Given the description of an element on the screen output the (x, y) to click on. 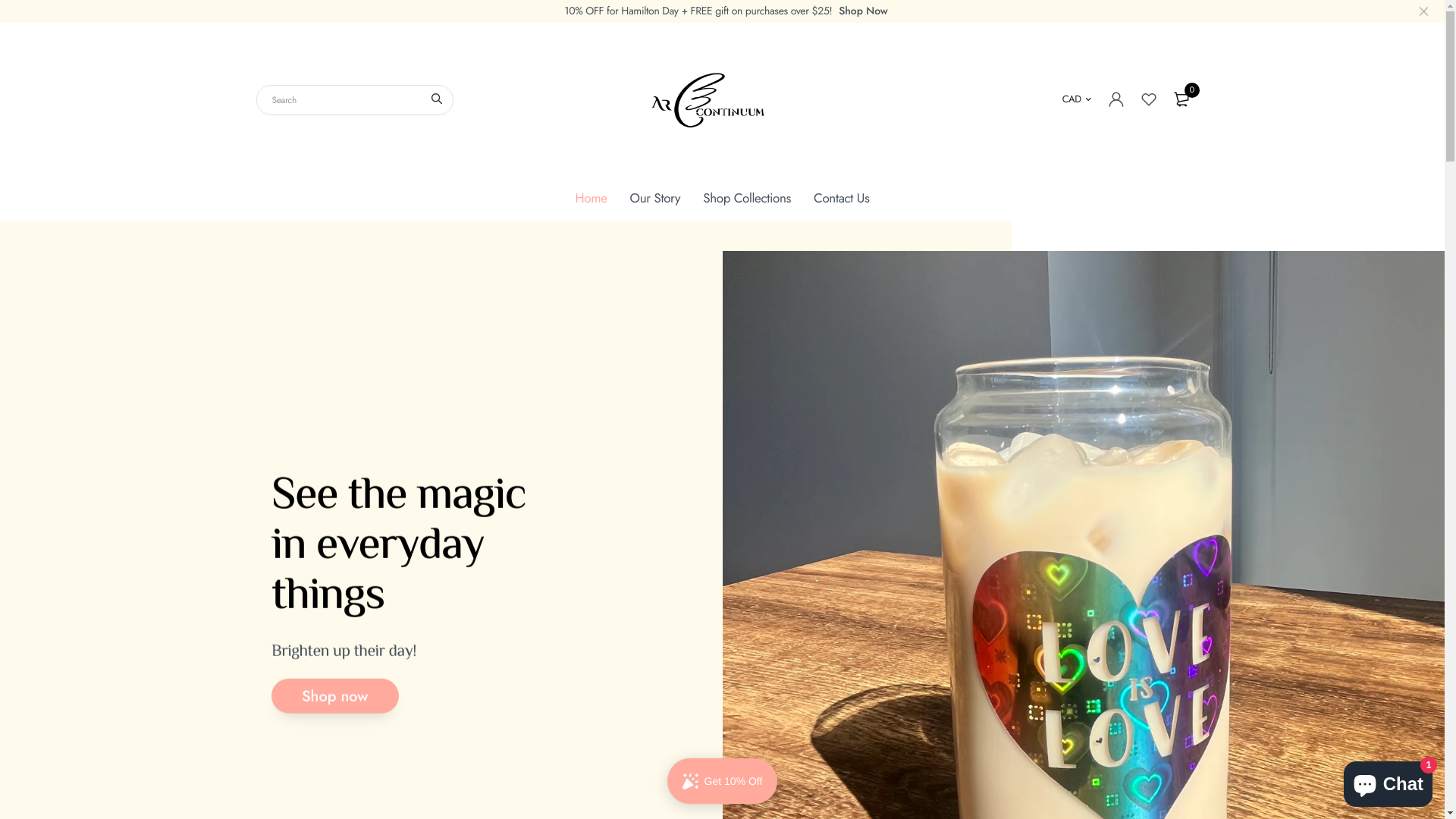
Home Element type: text (590, 198)
Shop Collections Element type: text (746, 198)
Shopify online store chat Element type: hover (1388, 780)
Shop Now Element type: text (863, 10)
Shop now Element type: text (334, 695)
CAD Element type: text (1076, 99)
Our Story Element type: text (655, 198)
0 Element type: text (1181, 98)
Contact Us Element type: text (841, 198)
